Given the description of an element on the screen output the (x, y) to click on. 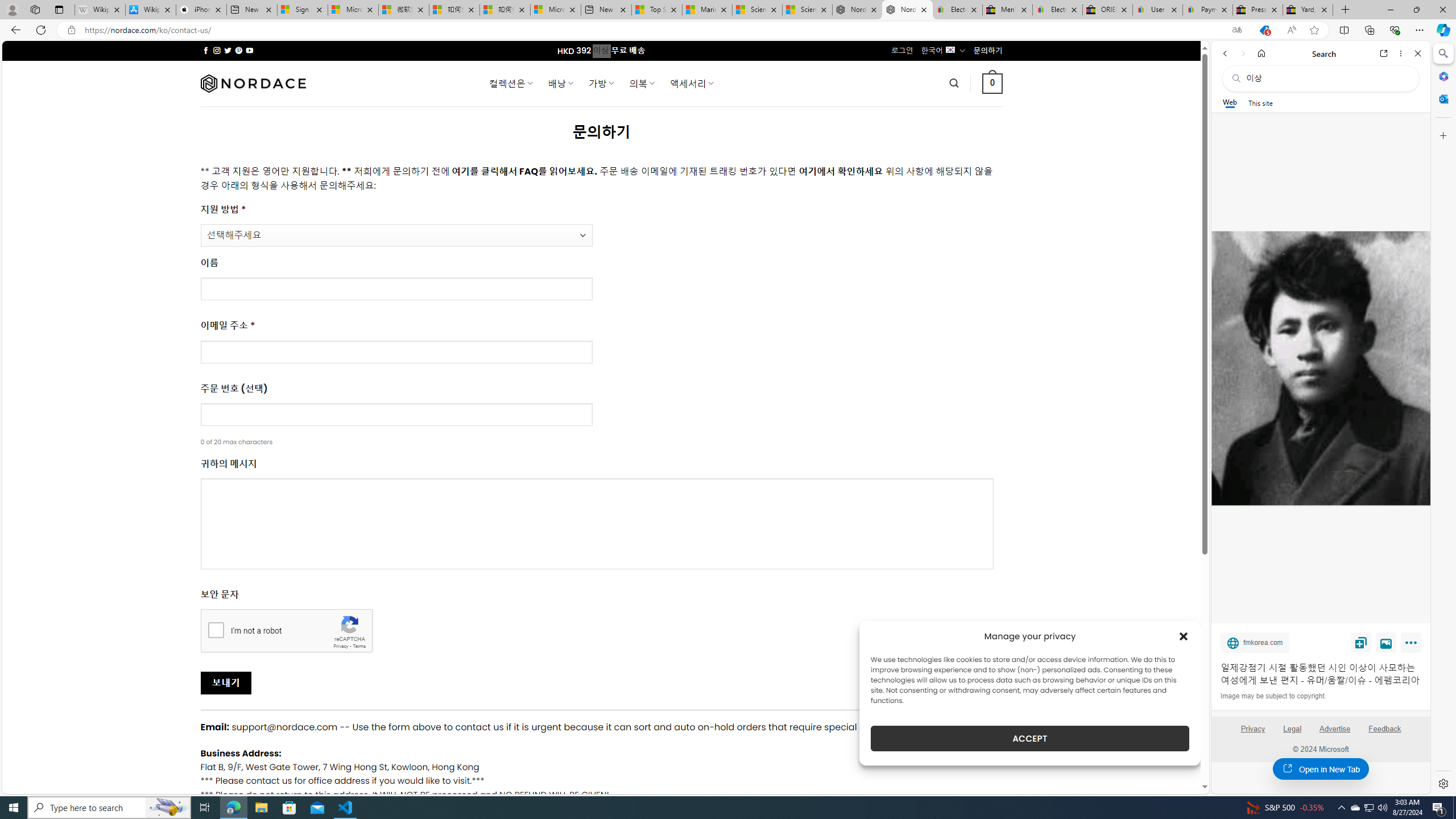
Top Stories - MSN (656, 9)
Follow on Pinterest (237, 50)
Follow on Twitter (227, 50)
